Given the description of an element on the screen output the (x, y) to click on. 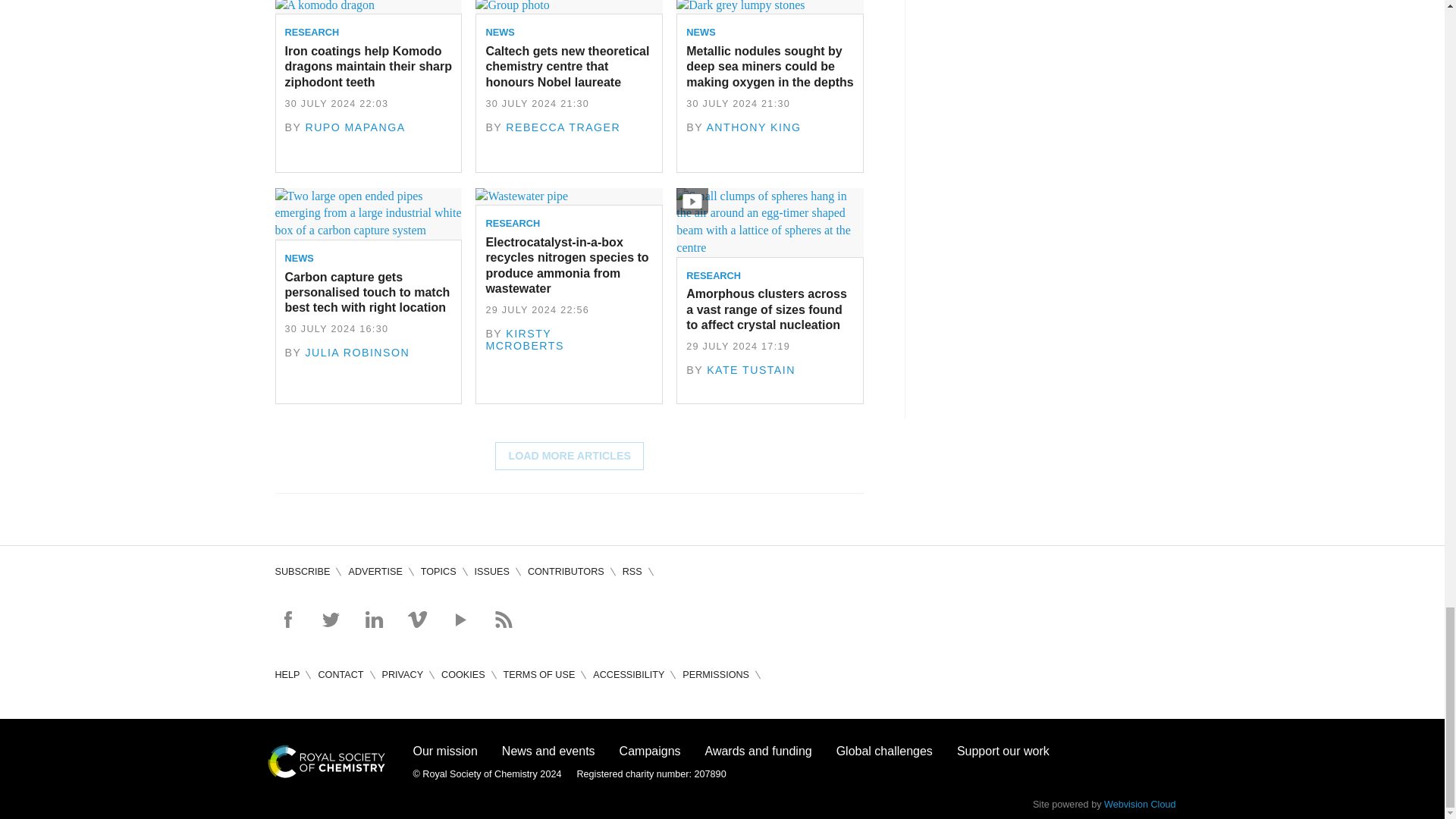
Follow on Facebook (287, 619)
Connect on Linked in (373, 619)
Follow on Twitter (330, 619)
Watch on Vimeo (416, 619)
